Given the description of an element on the screen output the (x, y) to click on. 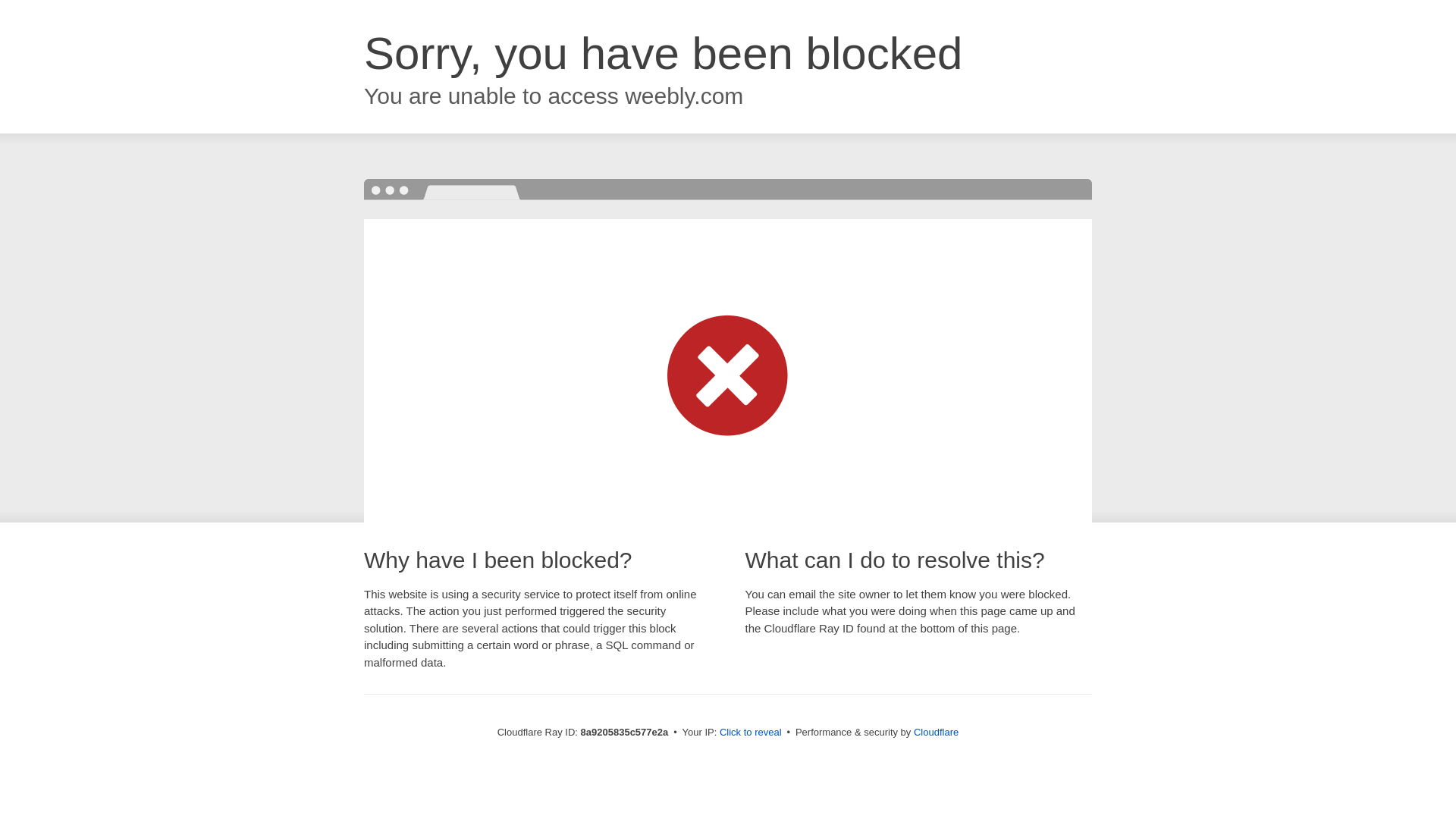
Cloudflare (936, 731)
Click to reveal (750, 732)
